Given the description of an element on the screen output the (x, y) to click on. 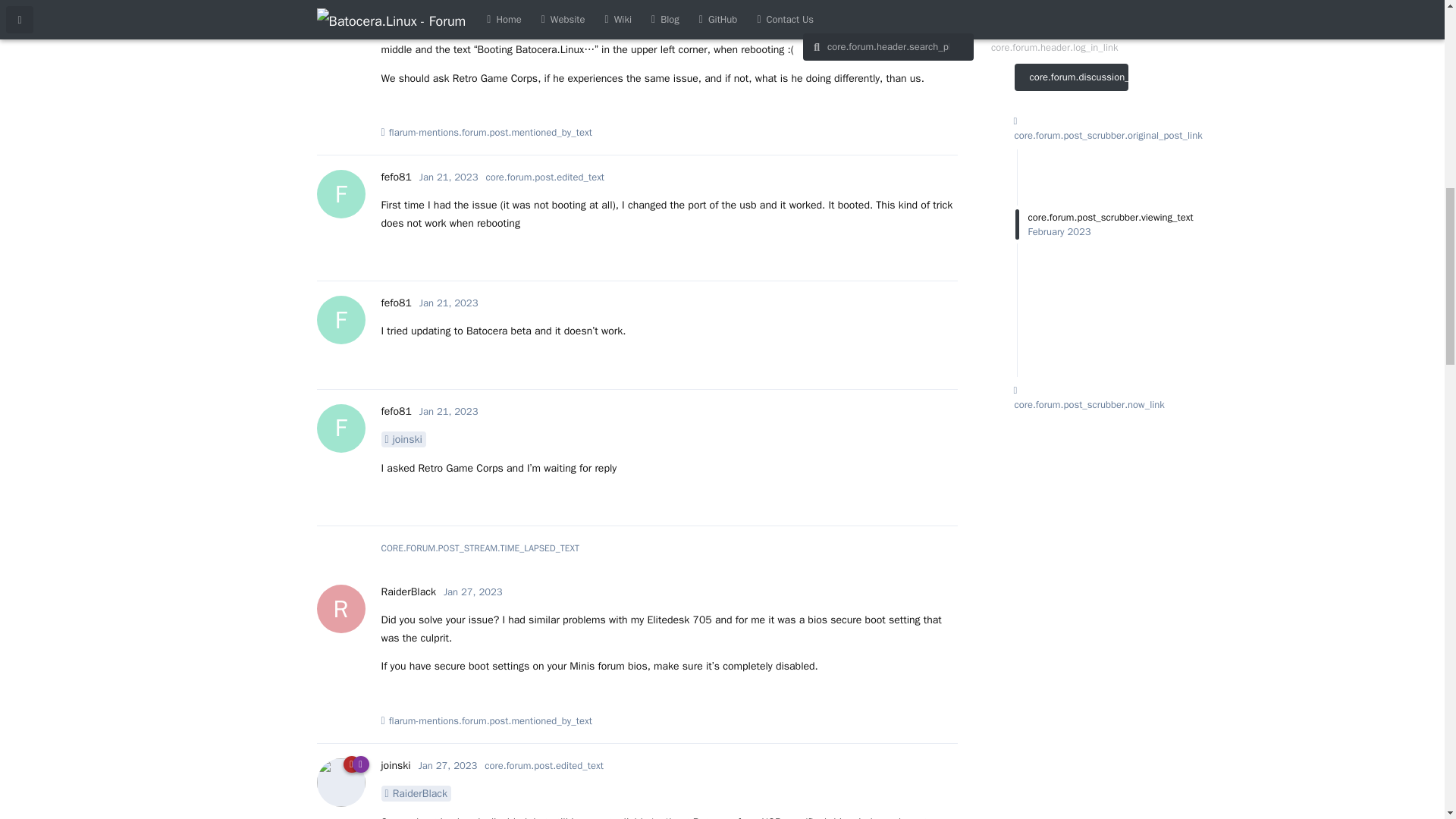
Jan 21, 2023 (449, 176)
Saturday, January 21, 2023 6:25 AM (449, 176)
Saturday, January 21, 2023 4:30 PM (449, 410)
Friday, January 27, 2023 4:26 PM (395, 302)
Jan 21, 2023 (395, 176)
fefo81 (473, 591)
Saturday, January 21, 2023 8:14 AM (449, 302)
